Given the description of an element on the screen output the (x, y) to click on. 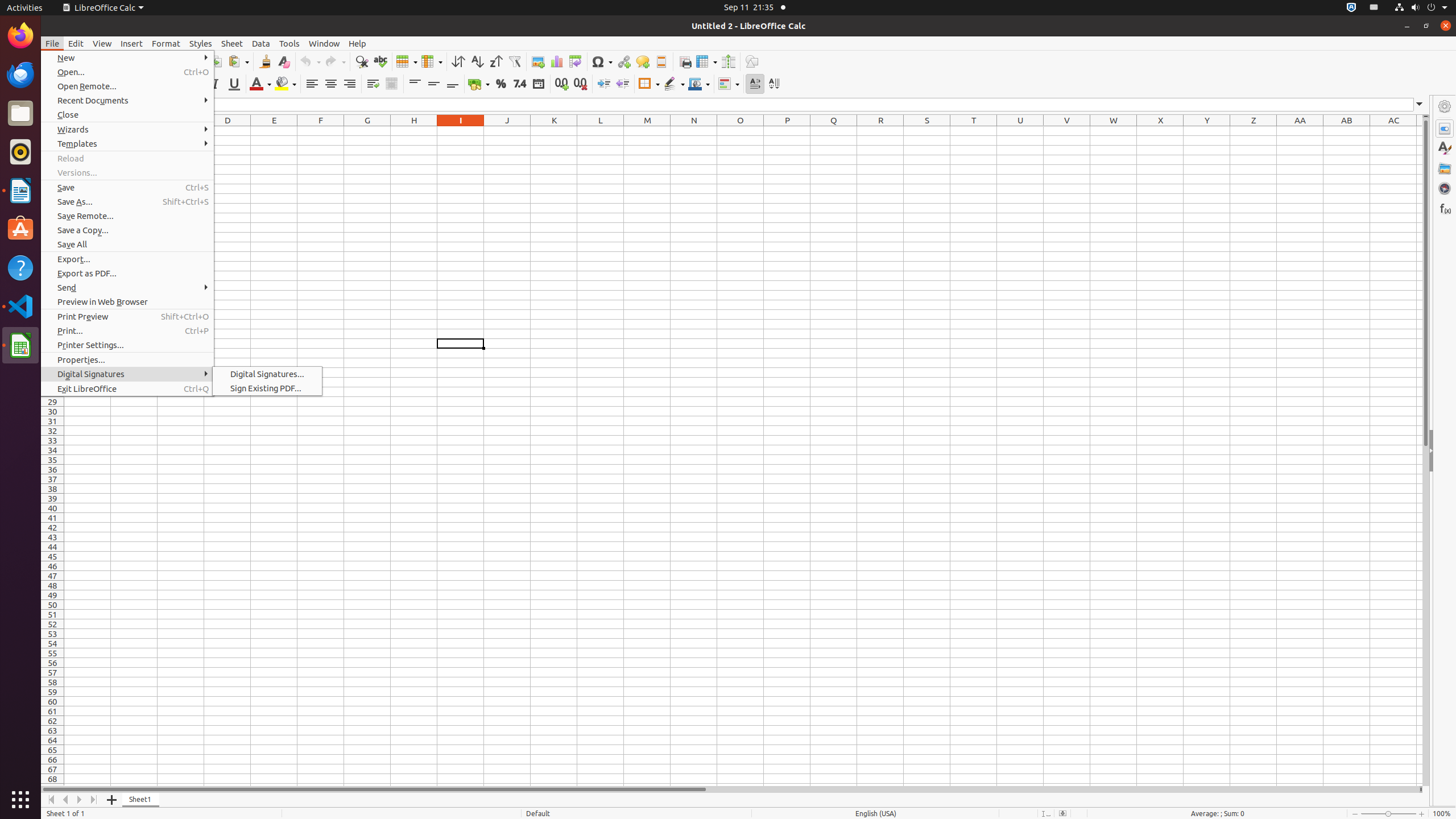
Digital Signatures... Element type: menu-item (266, 373)
Save a Copy... Element type: menu-item (126, 229)
AA1 Element type: table-cell (1299, 130)
